Given the description of an element on the screen output the (x, y) to click on. 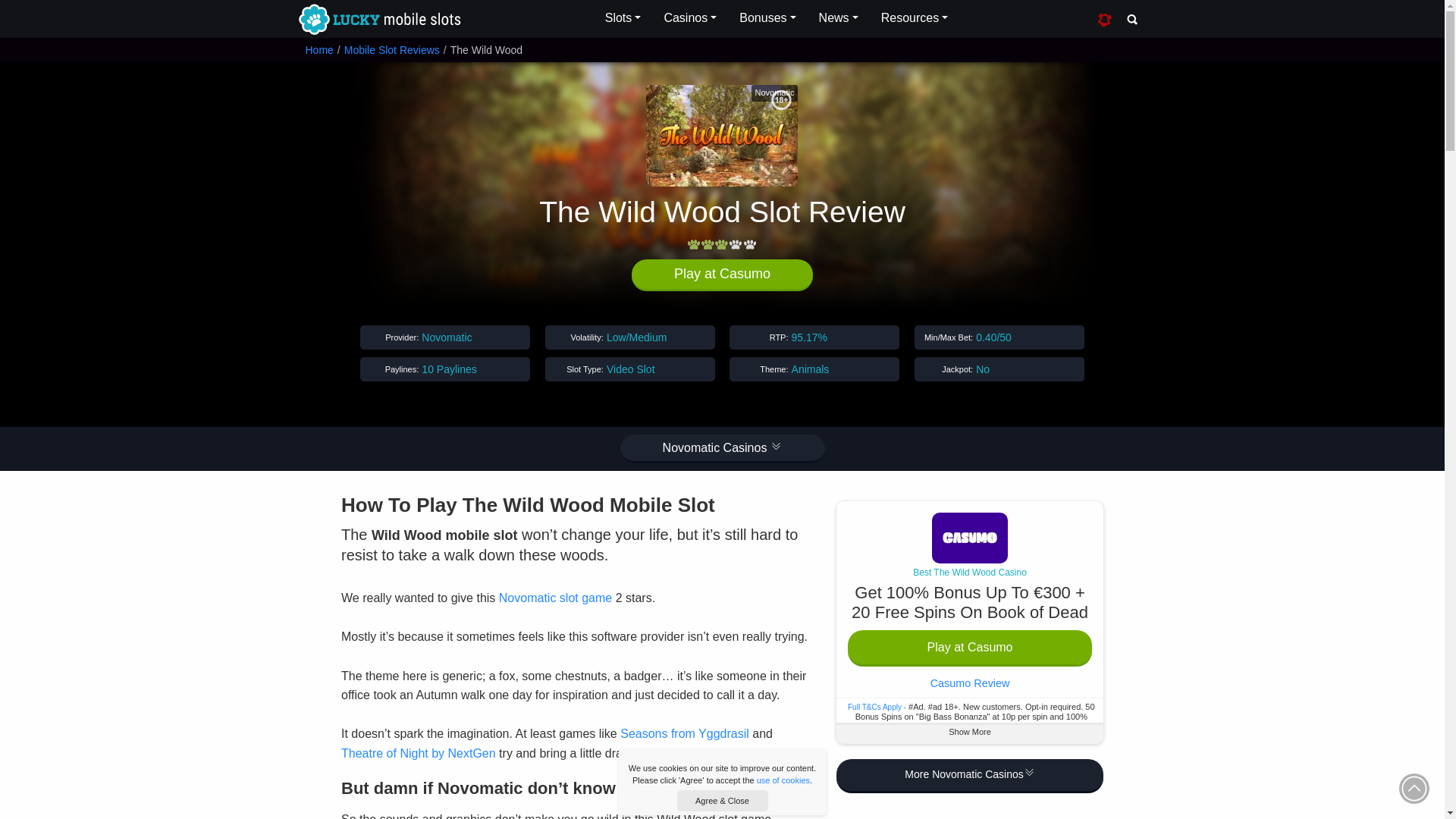
Lucky Mobile Slots (378, 20)
Back to Top (1414, 788)
Novomatic Casinos (722, 449)
Slots (623, 18)
Mobile Slot Reviews (391, 49)
Seasons Mobile Slot Review (684, 733)
Cookies Policy (783, 779)
More Novomatic Casinos (969, 776)
Home (318, 49)
News (838, 18)
